Given the description of an element on the screen output the (x, y) to click on. 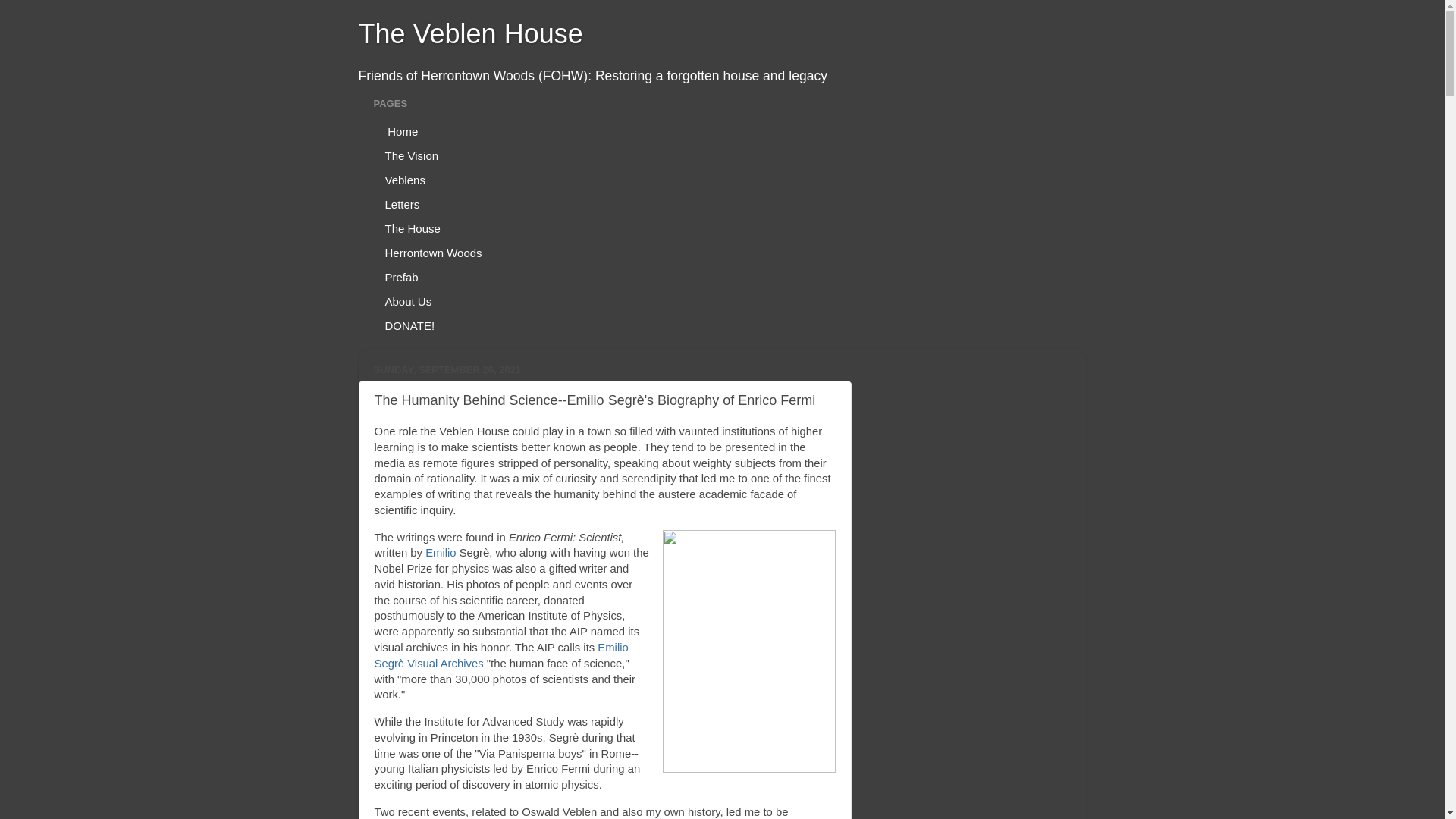
The House (411, 228)
Letters (401, 203)
Herrontown Woods (432, 252)
About Us (408, 300)
DONATE! (409, 324)
The Veblen House (470, 33)
Prefab (400, 276)
Home (400, 130)
Veblens (404, 179)
Emilio (440, 552)
The Vision (410, 155)
